Given the description of an element on the screen output the (x, y) to click on. 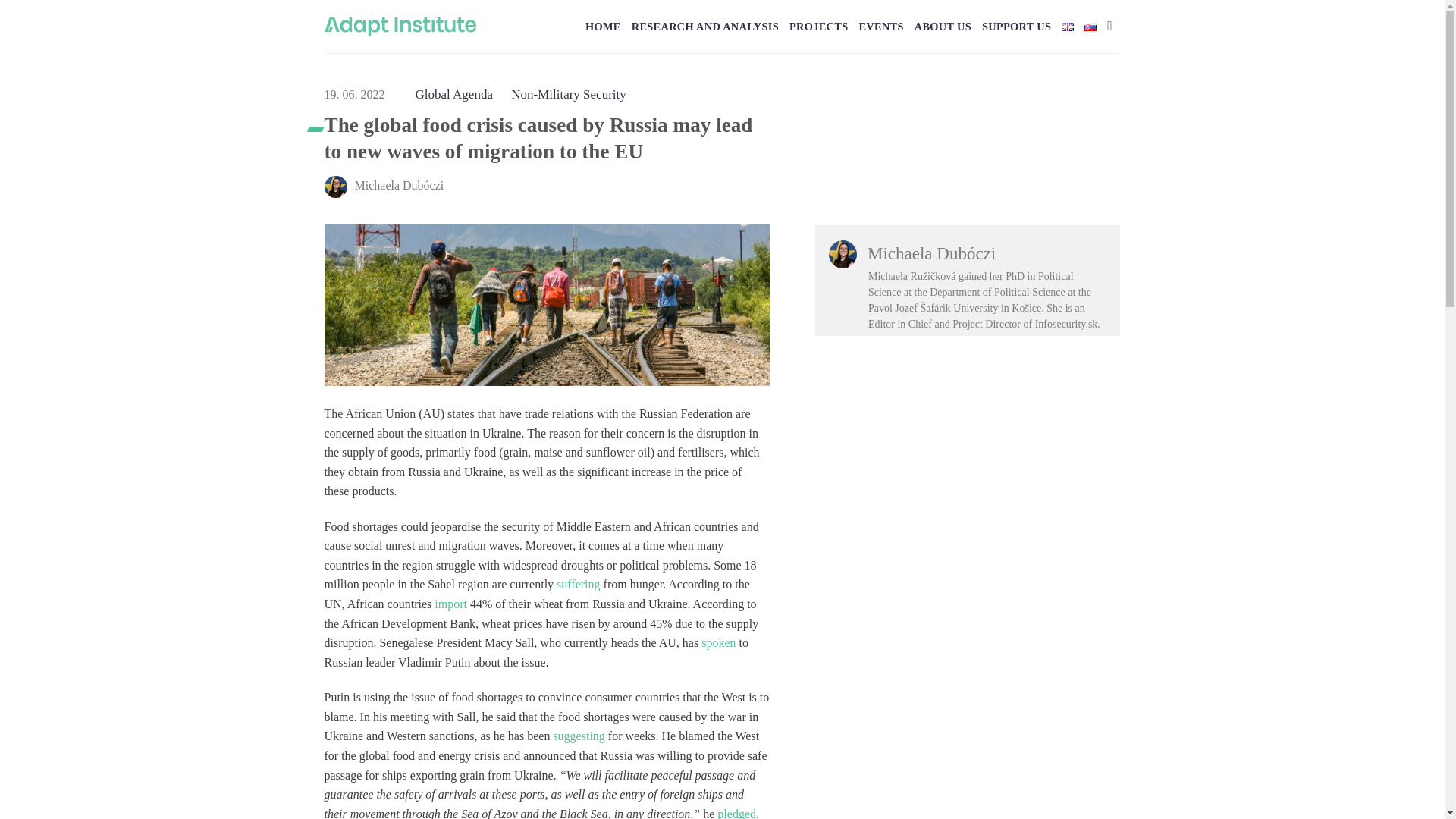
HOME (603, 26)
SUPPORT US (1016, 26)
import (450, 603)
Adapt Institute - Designing a secure future (400, 25)
suffering (577, 584)
pledged (736, 813)
PROJECTS (818, 26)
RESEARCH AND ANALYSIS (704, 26)
EVENTS (880, 26)
suggesting (578, 735)
ABOUT US (942, 26)
spoken (718, 642)
